Given the description of an element on the screen output the (x, y) to click on. 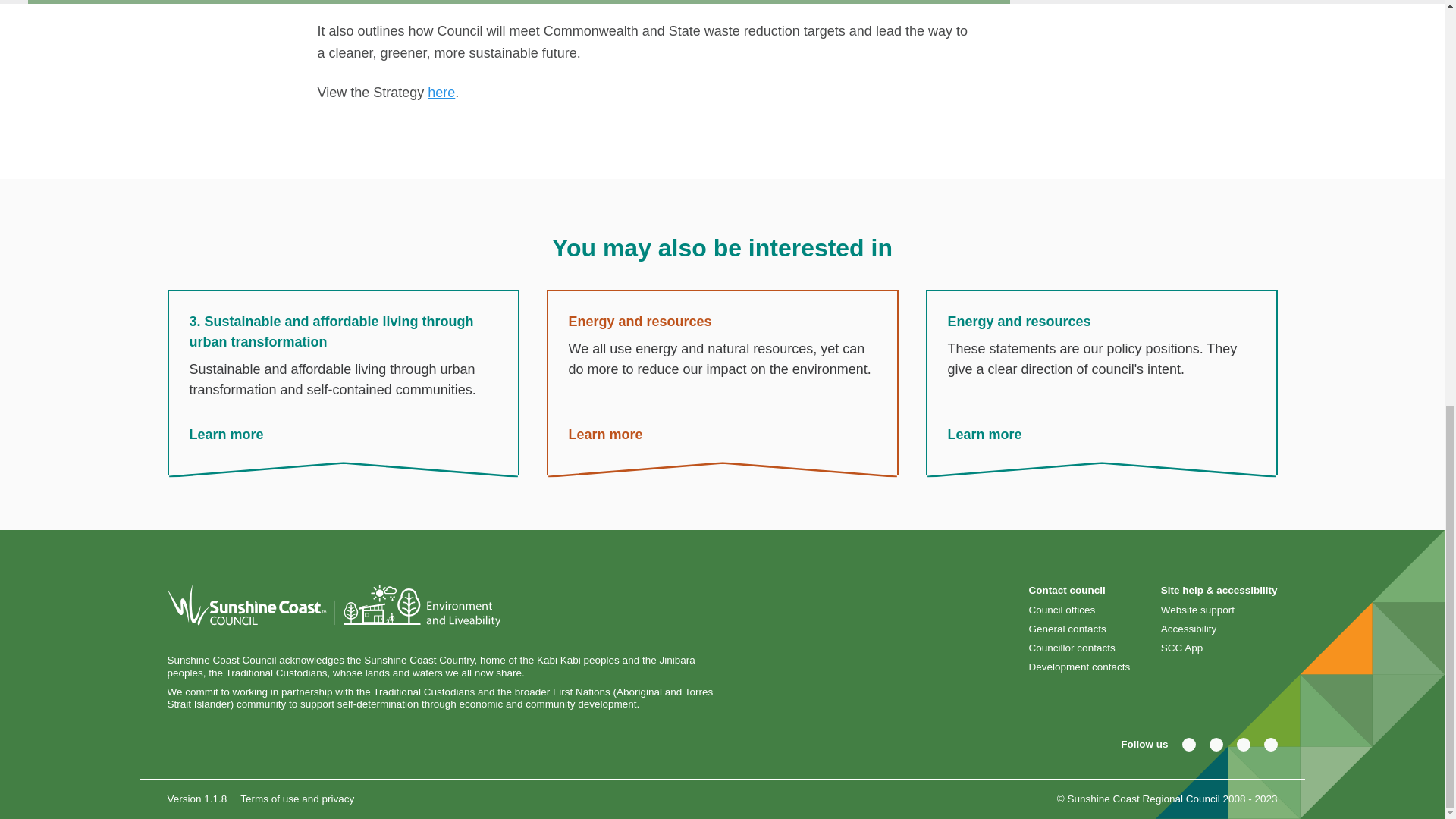
Energy and resources (984, 434)
Learn more (984, 434)
Councillor contacts (1074, 647)
here (441, 92)
Development contacts (1081, 666)
councillor profiles (1074, 647)
Visit us on LinkedIn (1269, 744)
General contacts (1069, 628)
Visit us on Facebook (1187, 744)
Website support (1199, 609)
contact council (1069, 628)
Visit us on Twitter (1215, 744)
Energy and resources (605, 434)
Energy and resources (721, 383)
